Given the description of an element on the screen output the (x, y) to click on. 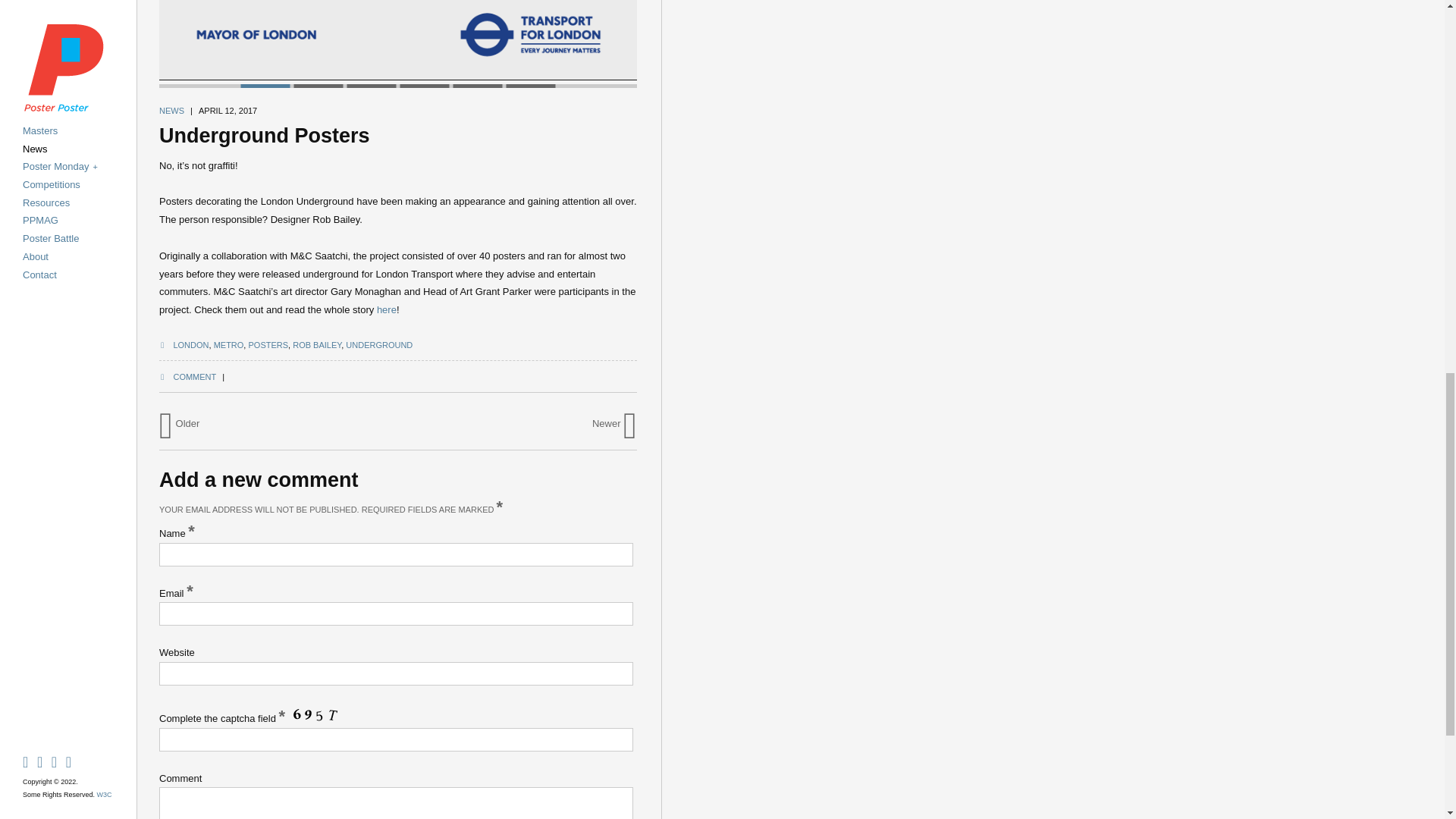
Newer (614, 423)
METRO (229, 344)
NEWS (171, 110)
here (386, 309)
LONDON (190, 344)
POSTERS (267, 344)
Older (178, 423)
COMMENT (186, 376)
ROB BAILEY (316, 344)
UNDERGROUND (379, 344)
